Given the description of an element on the screen output the (x, y) to click on. 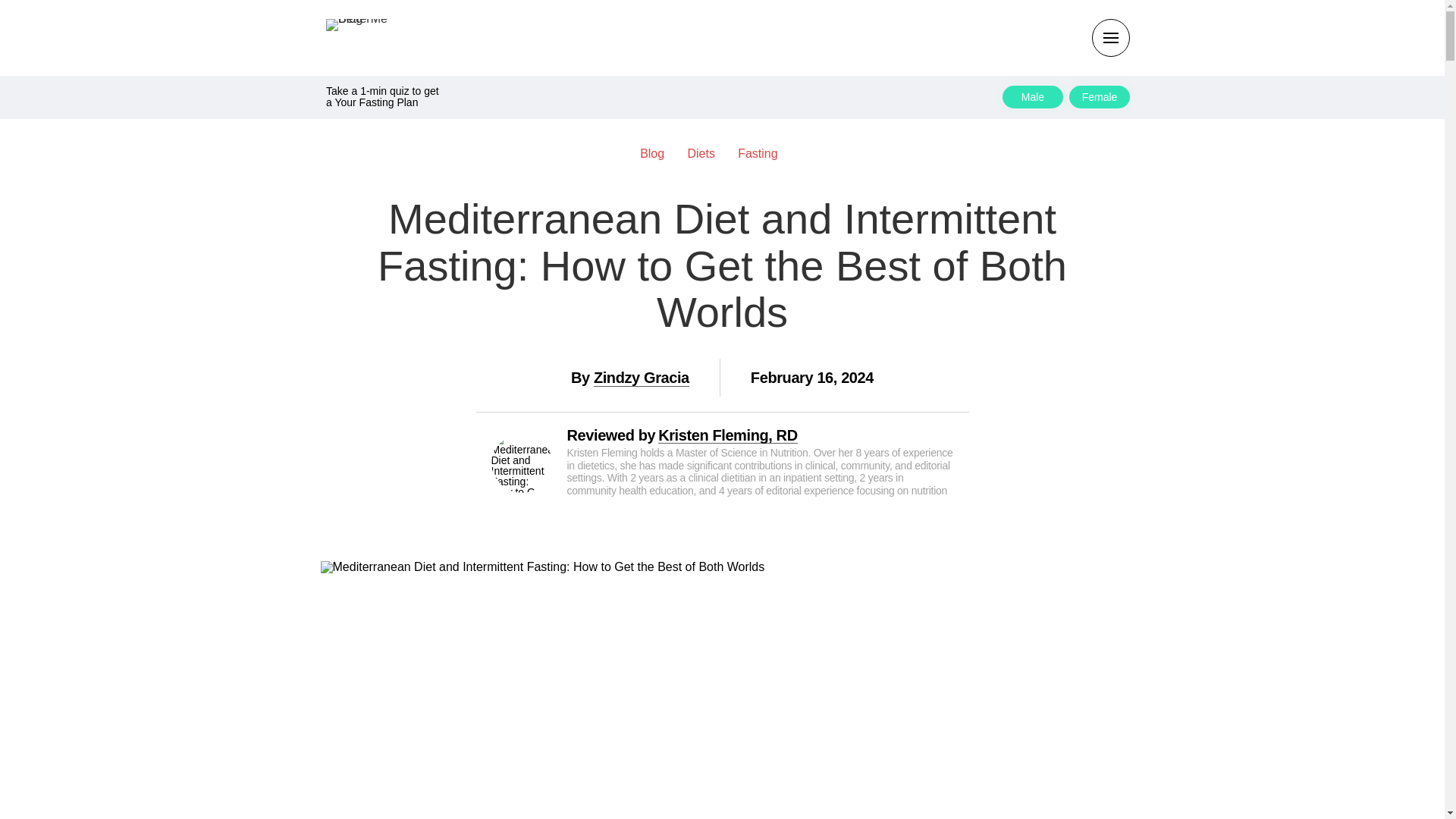
Fasting (765, 153)
Diets (708, 153)
Zindzy Gracia (641, 377)
Blog (659, 153)
Female (1098, 96)
Kristen Fleming, RD (727, 435)
Male (1032, 96)
BetterMe Blog (363, 36)
